Given the description of an element on the screen output the (x, y) to click on. 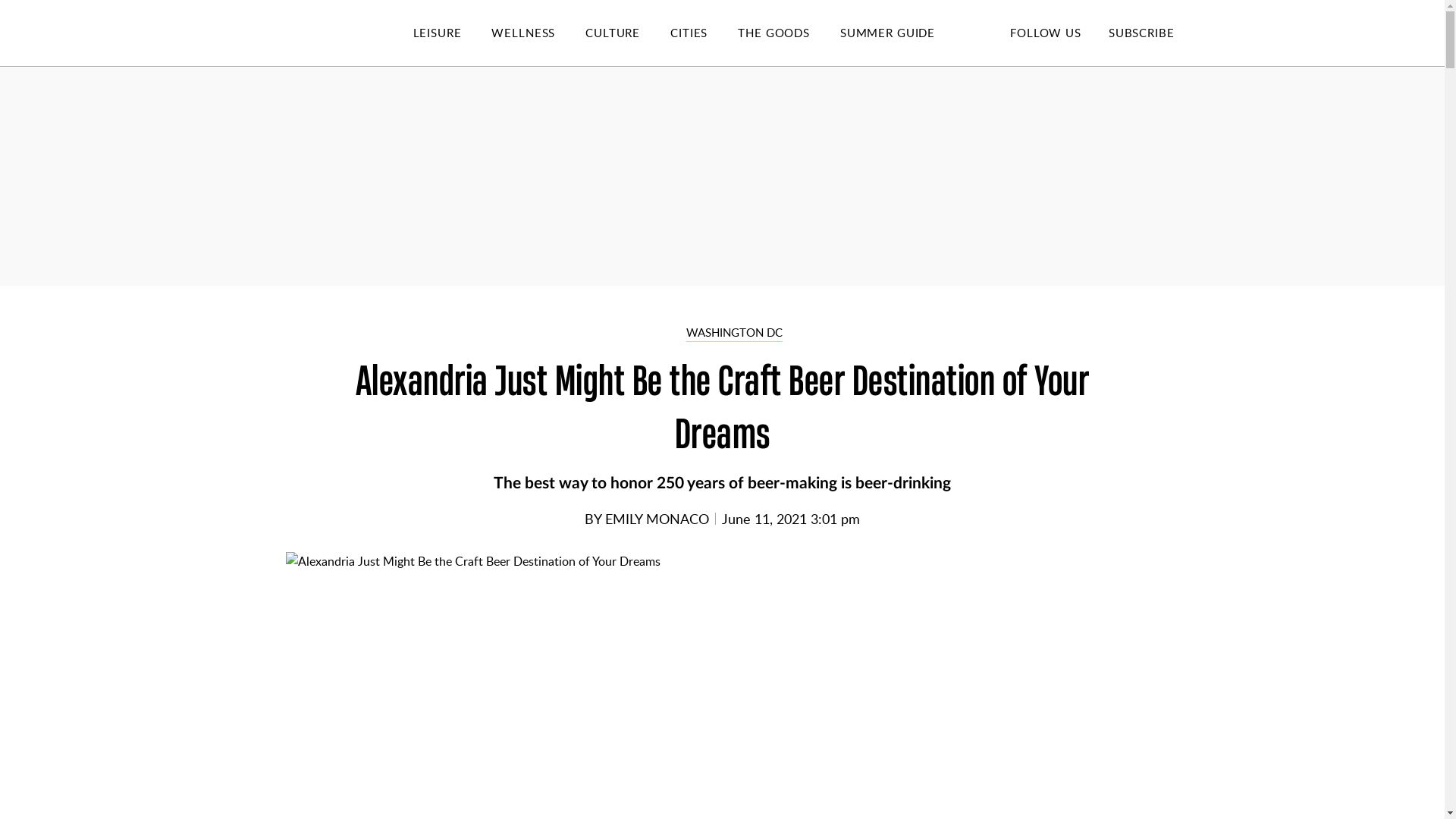
SUMMER GUIDE (902, 32)
FOLLOW US (1045, 32)
WELLNESS (538, 32)
SUBSCRIBE (1141, 31)
THE GOODS (789, 32)
LEISURE (452, 32)
CULTURE (627, 32)
CITIES (703, 32)
